Given the description of an element on the screen output the (x, y) to click on. 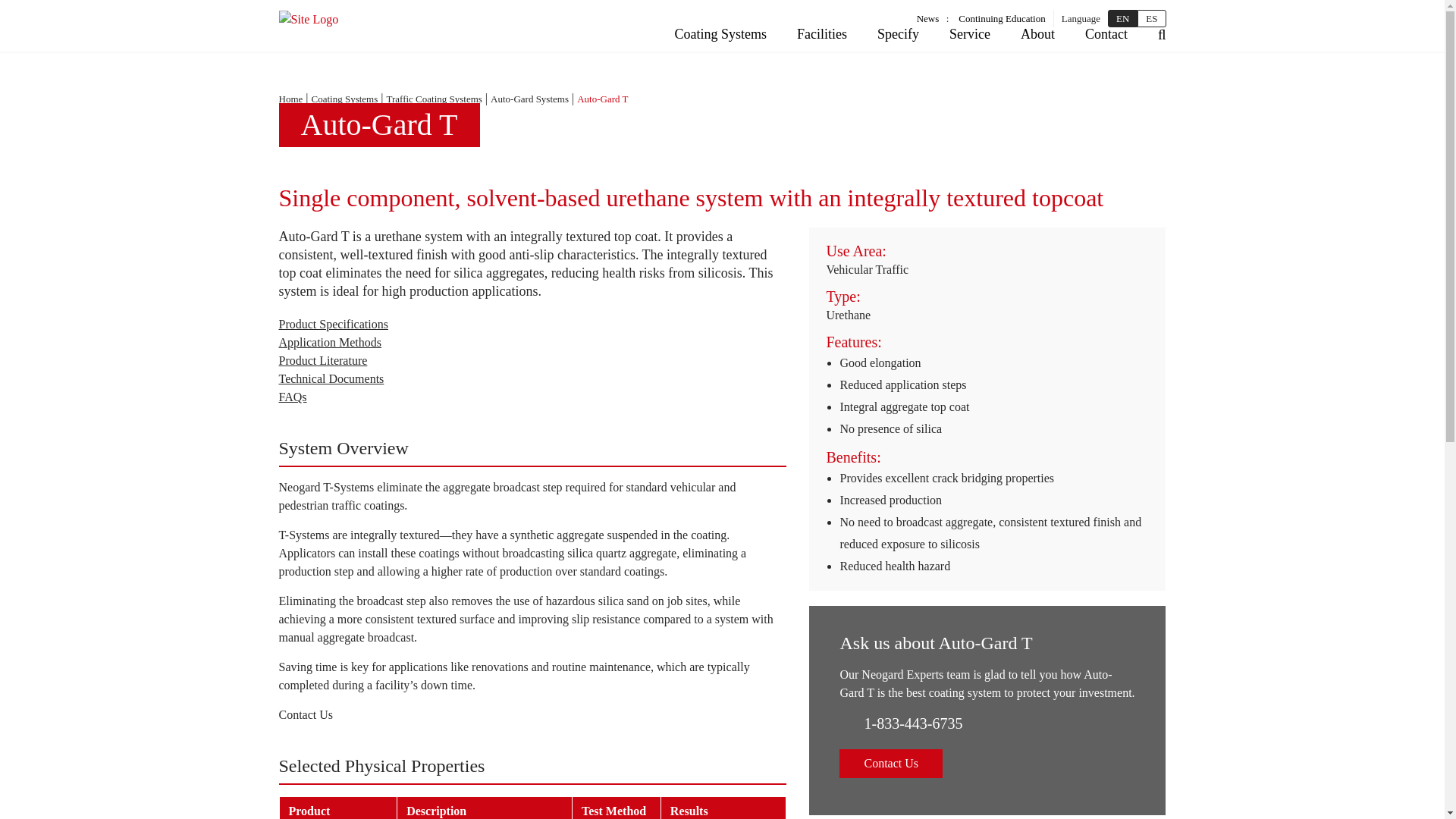
News (928, 18)
Continuing Education (1001, 18)
News (928, 18)
ES (1151, 18)
Continuing Education (1001, 18)
EN (1122, 18)
